Given the description of an element on the screen output the (x, y) to click on. 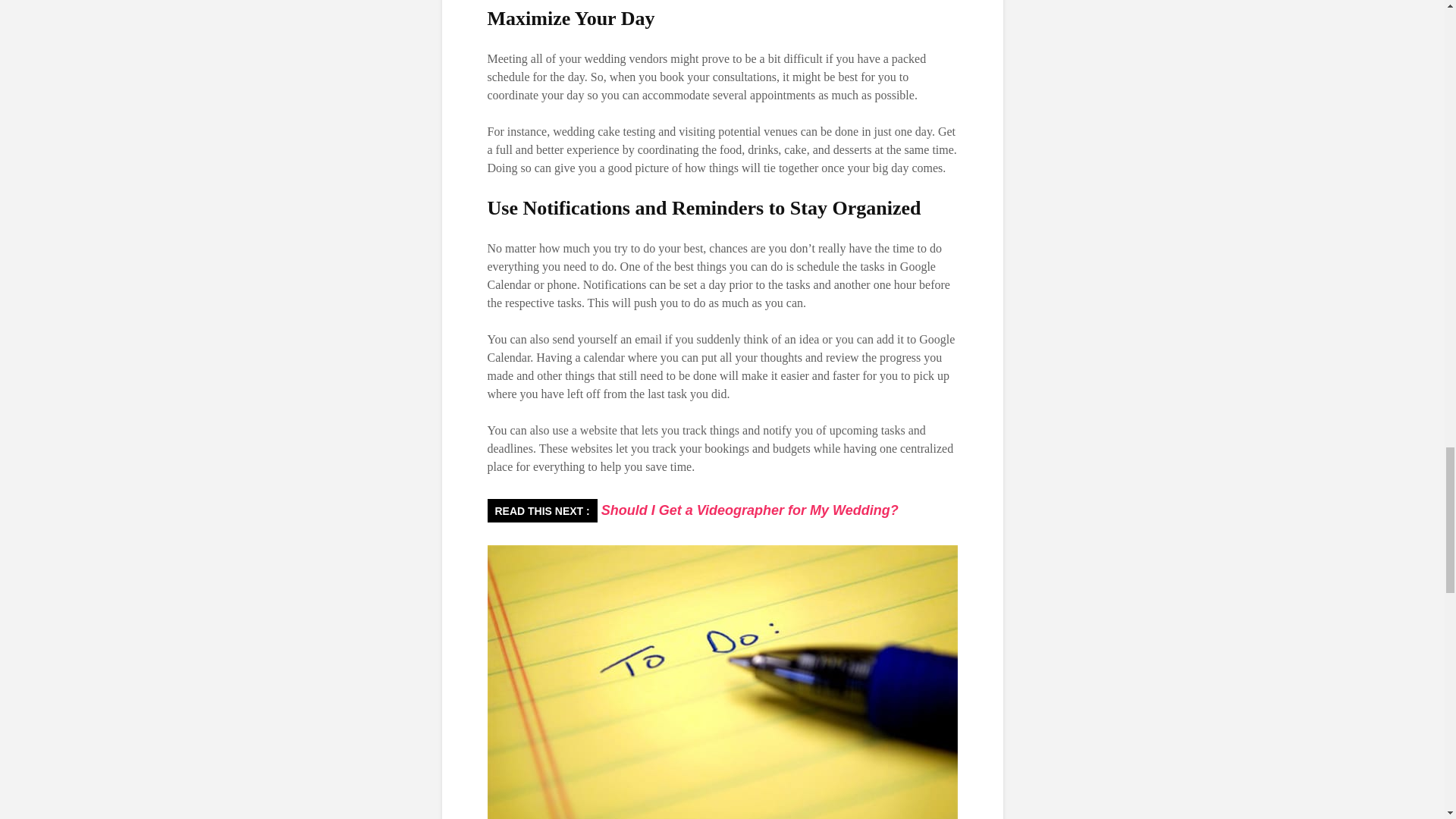
Should I Get a Videographer for My Wedding? (747, 509)
